Given the description of an element on the screen output the (x, y) to click on. 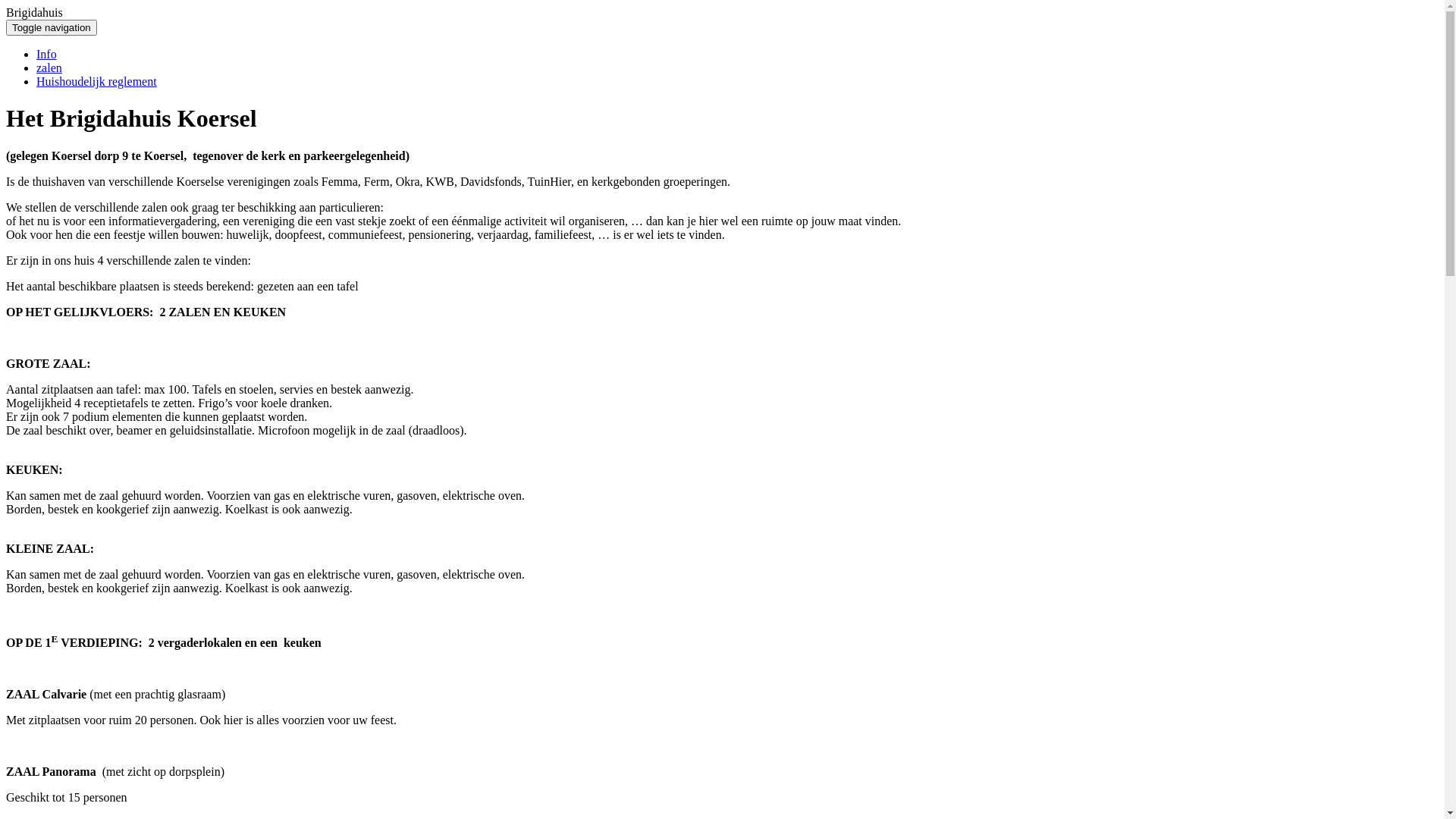
Toggle navigation Element type: text (51, 27)
zalen Element type: text (49, 67)
Huishoudelijk reglement Element type: text (96, 81)
Info Element type: text (46, 53)
